Given the description of an element on the screen output the (x, y) to click on. 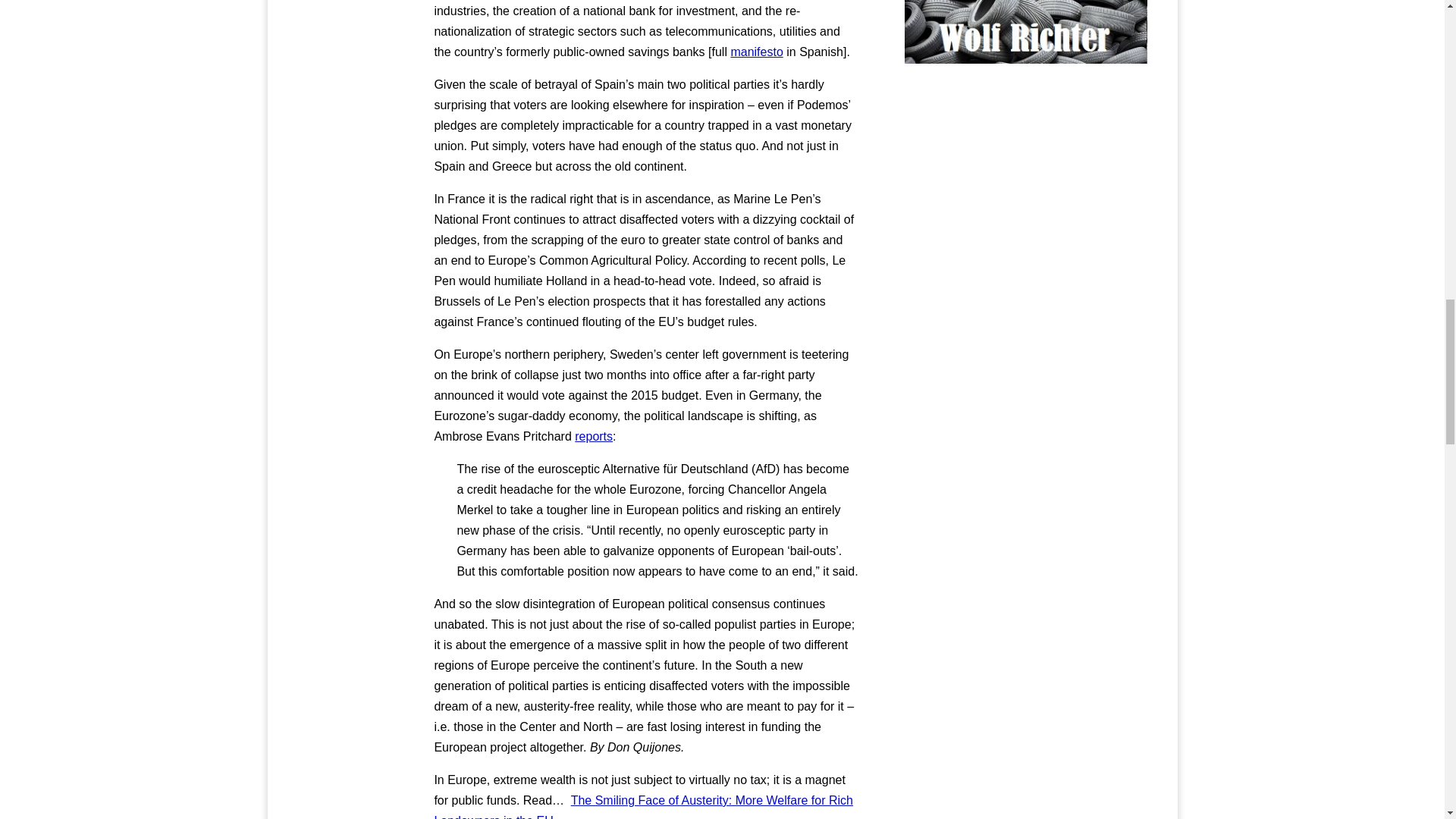
manifesto (756, 51)
reports (593, 436)
